Given the description of an element on the screen output the (x, y) to click on. 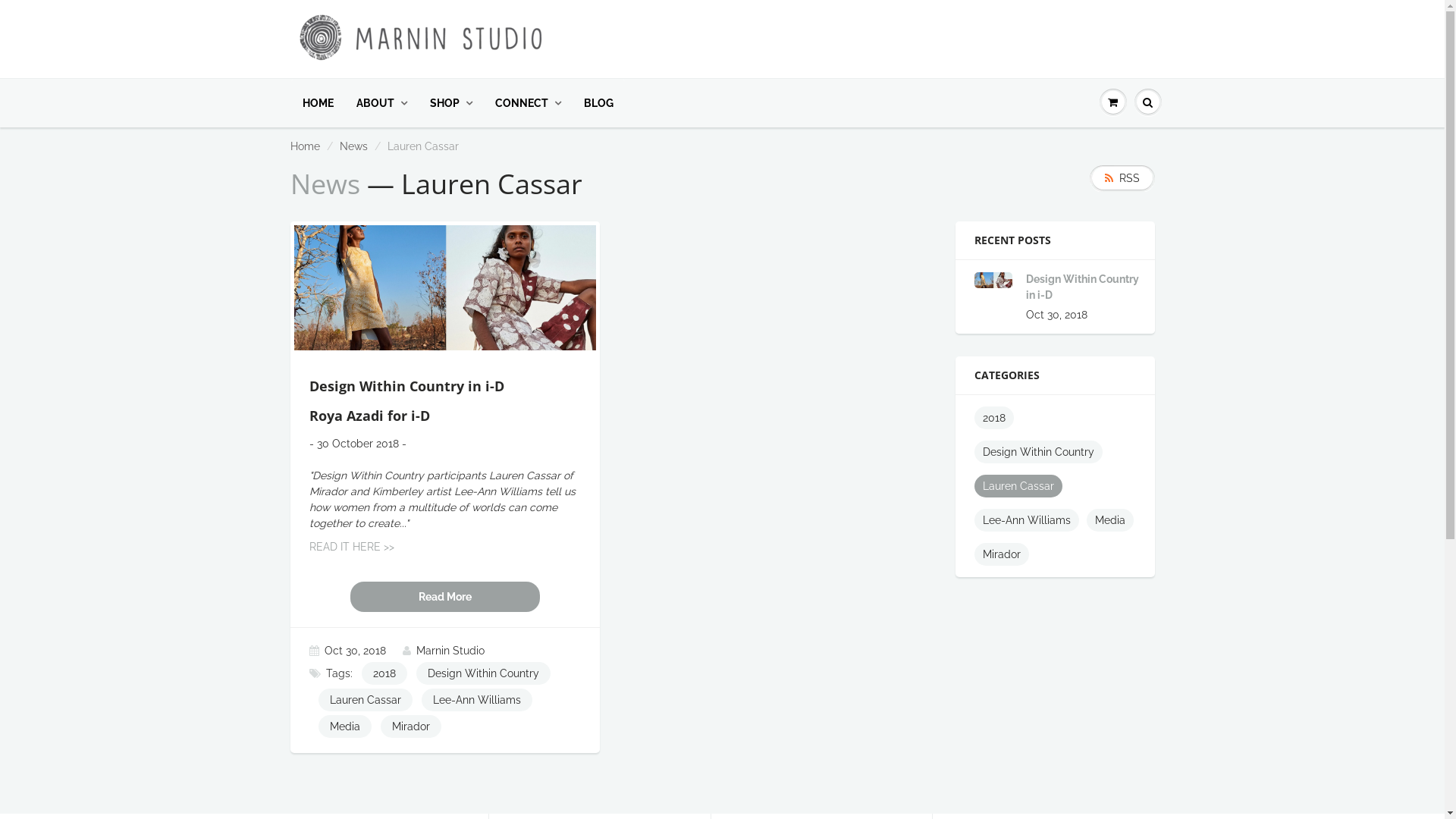
Lee-Ann Williams Element type: text (476, 699)
Design Within Country Element type: text (482, 673)
BLOG Element type: text (597, 102)
RSS Element type: text (1121, 178)
2018 Element type: text (993, 417)
CONNECT Element type: text (527, 102)
SHOP Element type: text (450, 102)
ABOUT Element type: text (380, 102)
Design Within Country in i-D Element type: text (1082, 287)
Mirador Element type: text (1001, 553)
HOME Element type: text (318, 102)
Home Element type: text (304, 146)
News Element type: text (353, 146)
2018 Element type: text (383, 673)
News Element type: text (324, 183)
READ IT HERE >> Element type: text (351, 546)
Read More Element type: text (444, 596)
Media Element type: text (344, 726)
Lauren Cassar Element type: text (365, 699)
Media Element type: text (1109, 519)
Design Within Country Element type: text (1038, 451)
Lee-Ann Williams Element type: text (1026, 519)
Mirador Element type: text (410, 726)
